Given the description of an element on the screen output the (x, y) to click on. 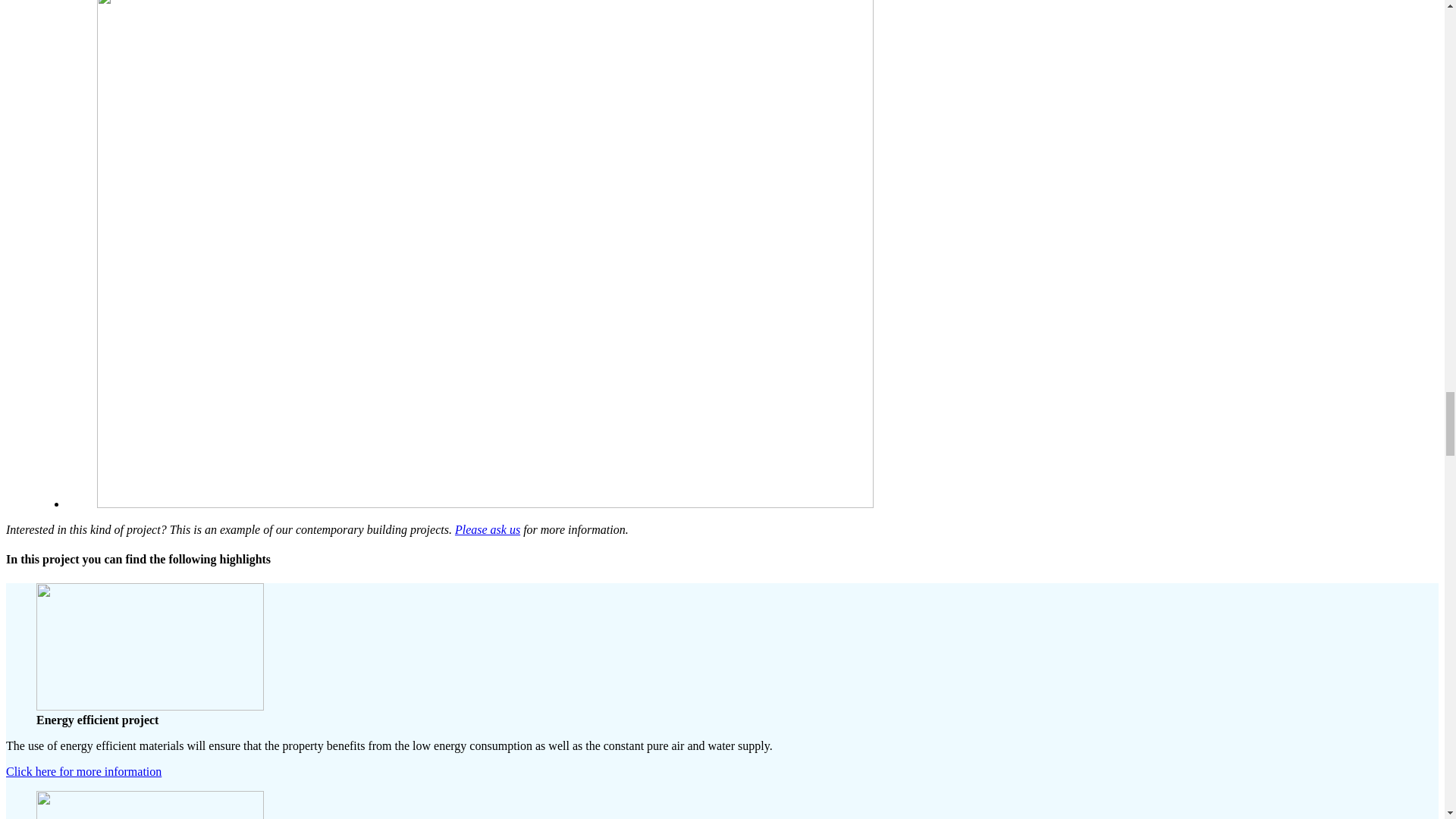
Please ask us (486, 529)
Click here for more information (83, 771)
